Given the description of an element on the screen output the (x, y) to click on. 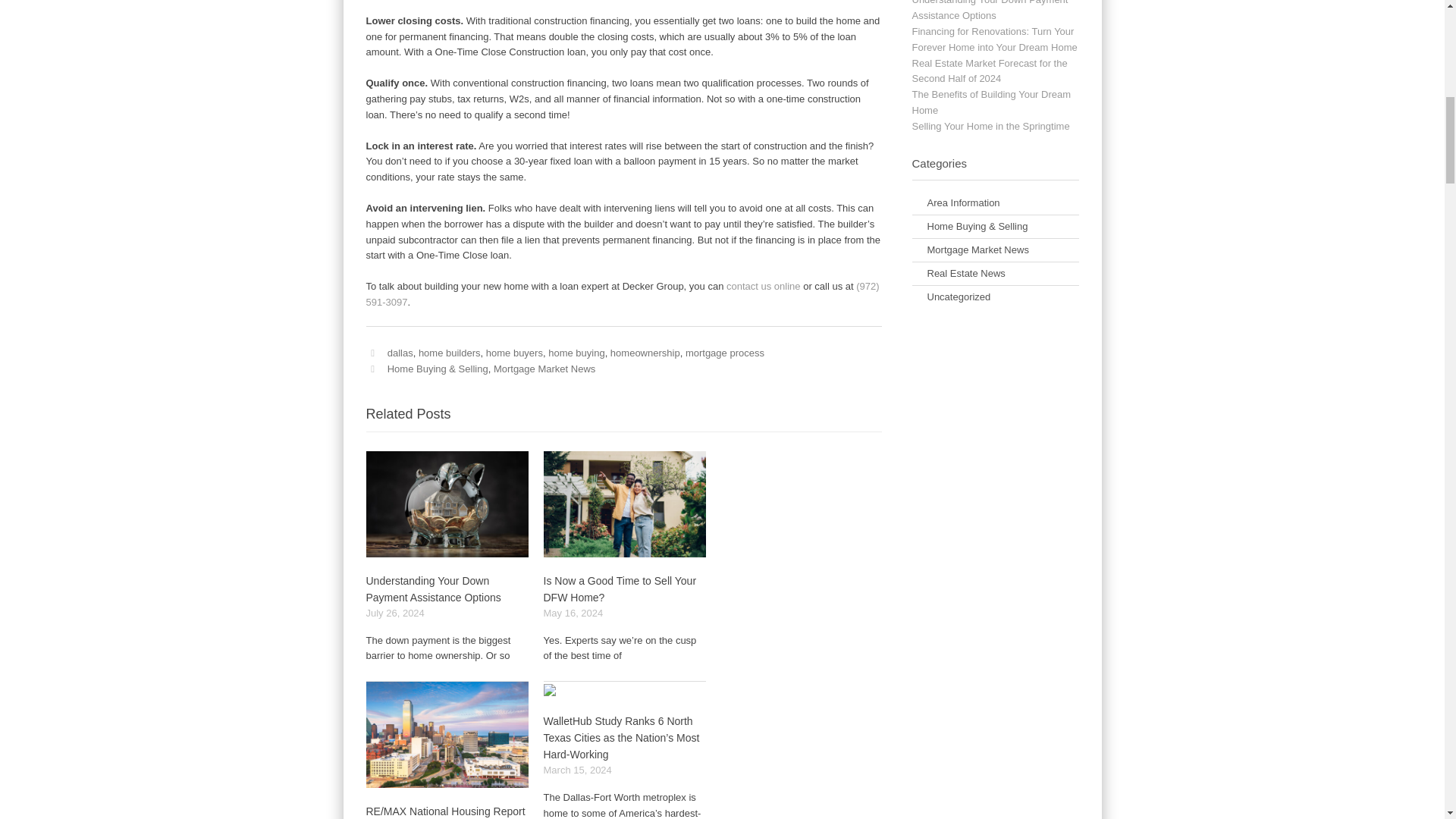
Understanding Your Down Payment Assistance Options (432, 588)
contact us online (763, 285)
homeownership (644, 352)
dallas (400, 352)
home buying (576, 352)
Is Now a Good Time to Sell Your DFW Home? (619, 588)
Is Now a Good Time to Sell Your DFW Home? (619, 588)
home buyers (514, 352)
Mortgage Market News (544, 368)
Understanding Your Down Payment Assistance Options (432, 588)
home builders (449, 352)
mortgage process (724, 352)
